Given the description of an element on the screen output the (x, y) to click on. 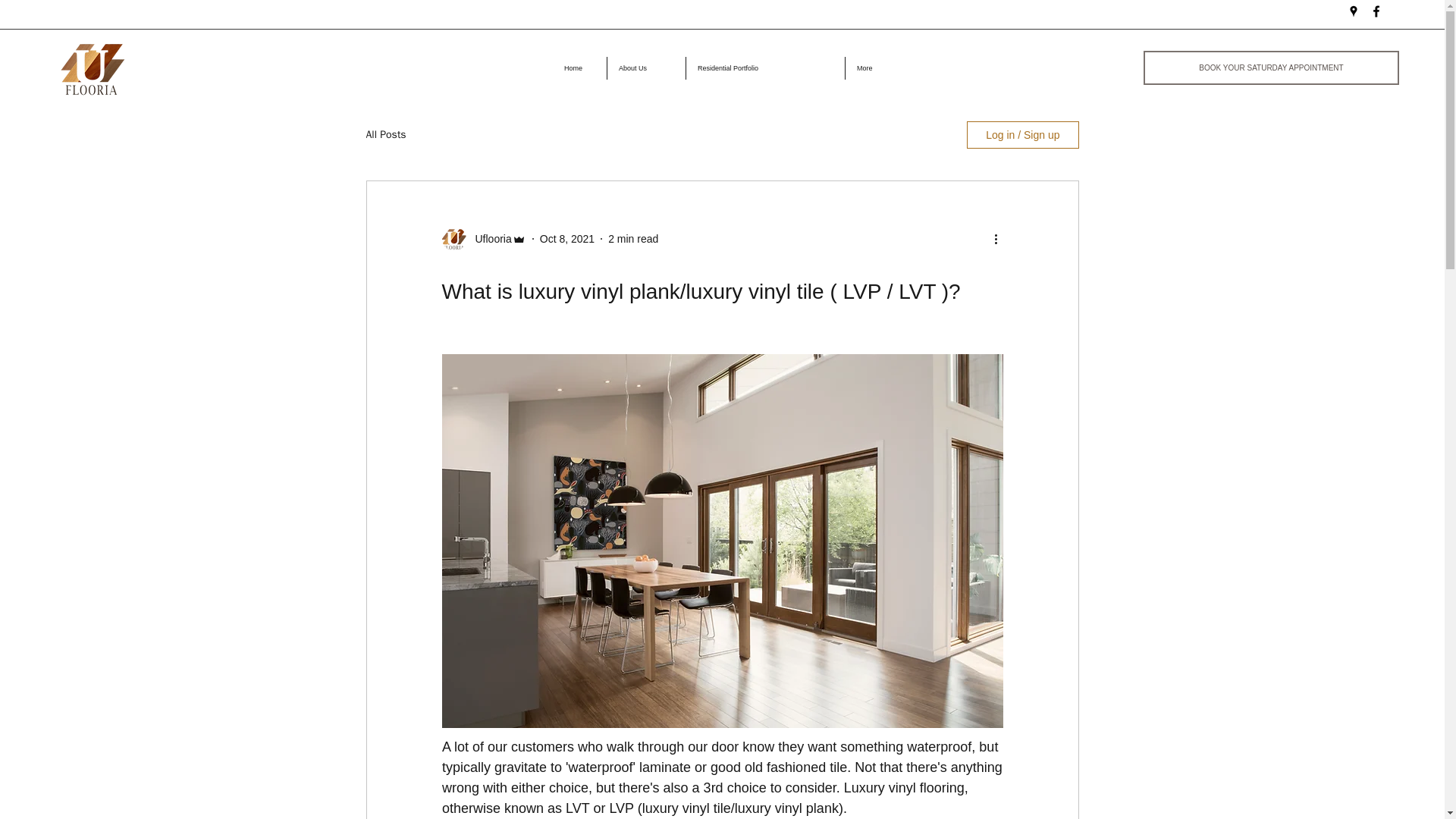
Oct 8, 2021 (567, 237)
All Posts (385, 134)
Home (580, 67)
Residential Portfolio (764, 67)
About Us (646, 67)
2 min read (633, 237)
BOOK YOUR SATURDAY APPOINTMENT (1270, 67)
Uflooria (488, 238)
